Given the description of an element on the screen output the (x, y) to click on. 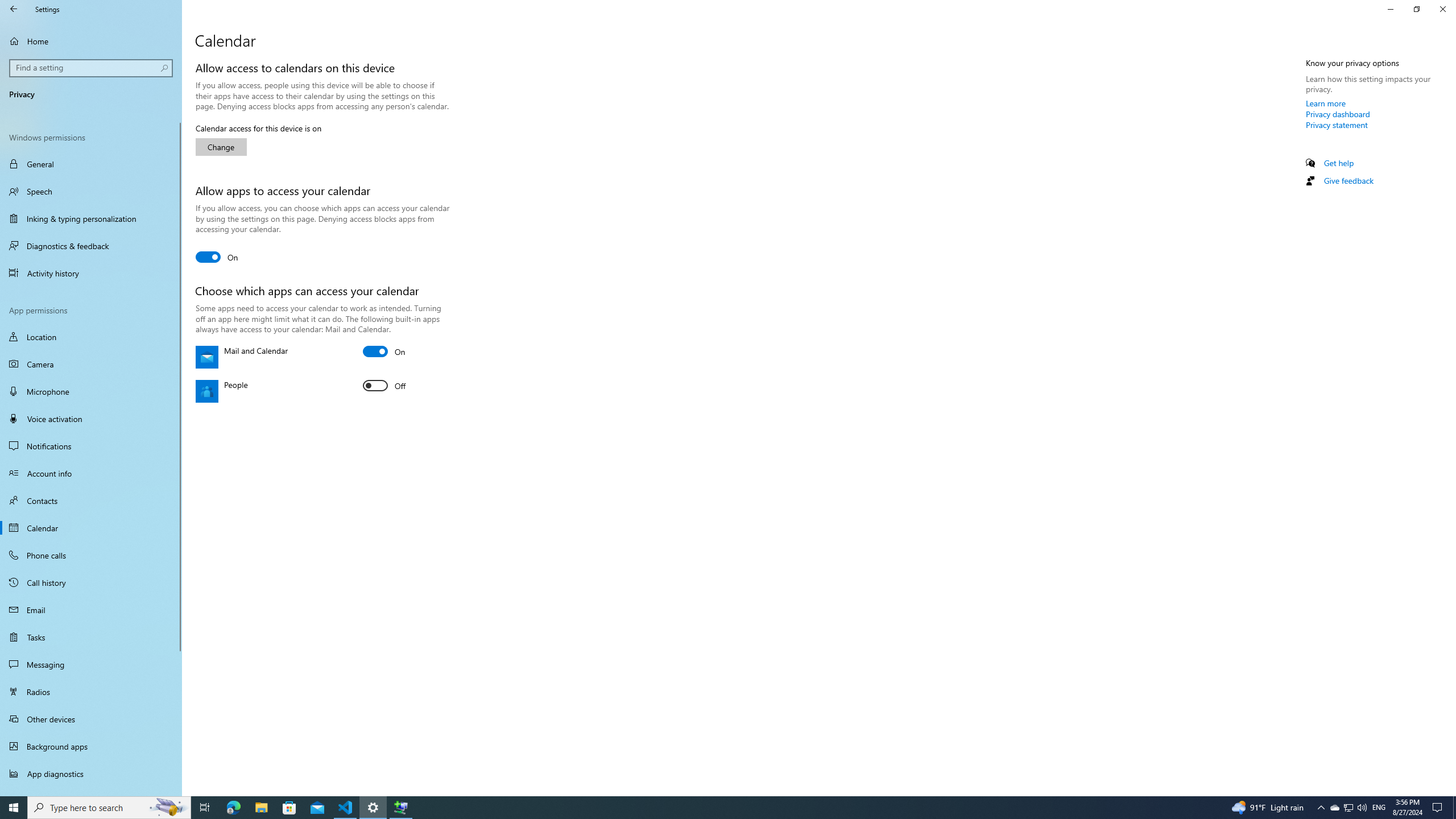
Phone calls (91, 554)
Search box, Find a setting (91, 67)
Contacts (91, 500)
Account info (91, 472)
Calendar (91, 527)
Notifications (91, 445)
Change (221, 146)
Tasks (91, 636)
Settings - 1 running window (373, 807)
Extensible Wizards Host Process - 1 running window (400, 807)
